Given the description of an element on the screen output the (x, y) to click on. 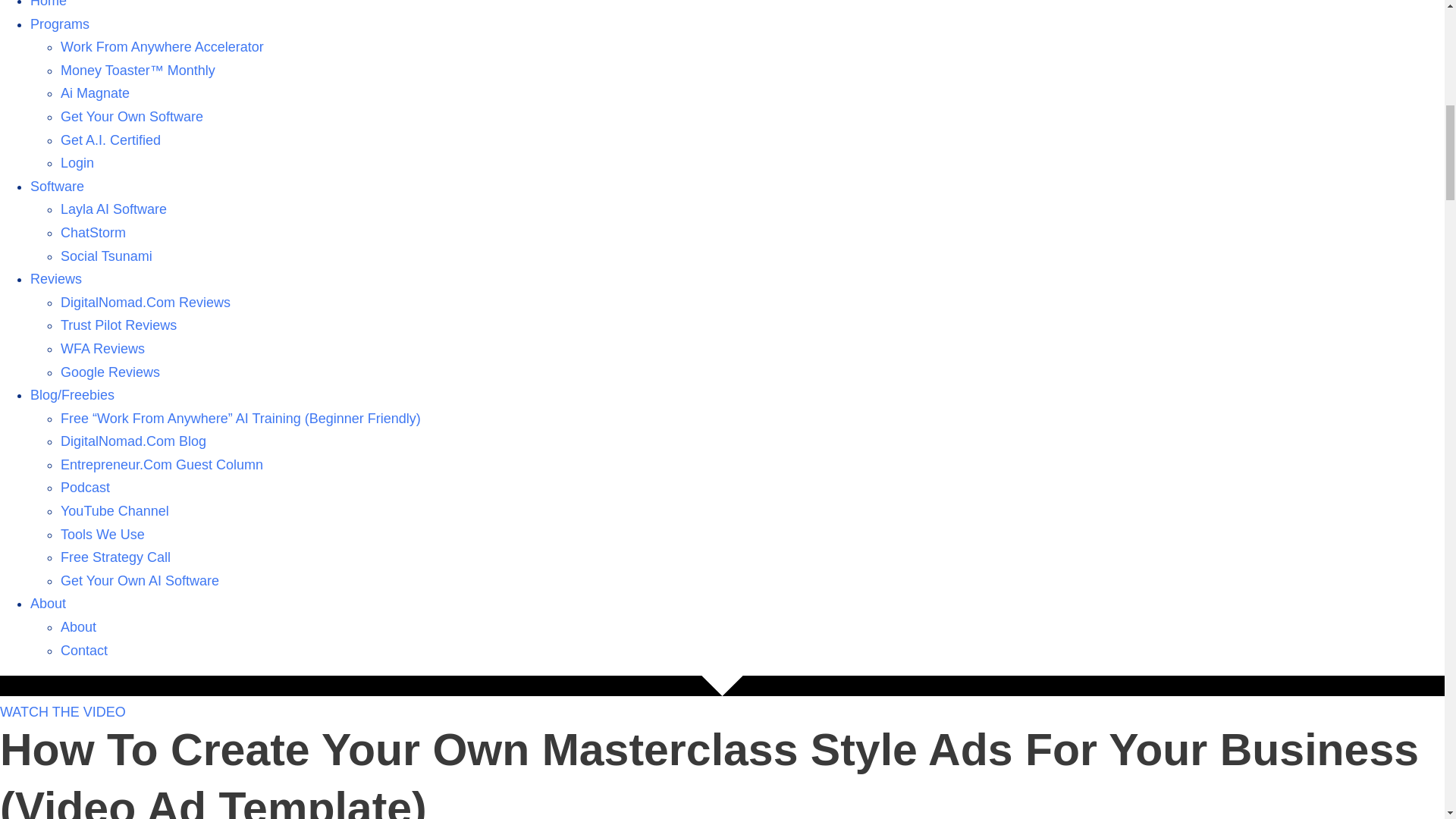
Get Your Own Software (132, 116)
Work From Anywhere Accelerator (162, 46)
Ai Magnate (95, 92)
Get A.I. Certified (110, 140)
Login (77, 162)
Programs (59, 23)
Home (48, 4)
Software (57, 186)
